Given the description of an element on the screen output the (x, y) to click on. 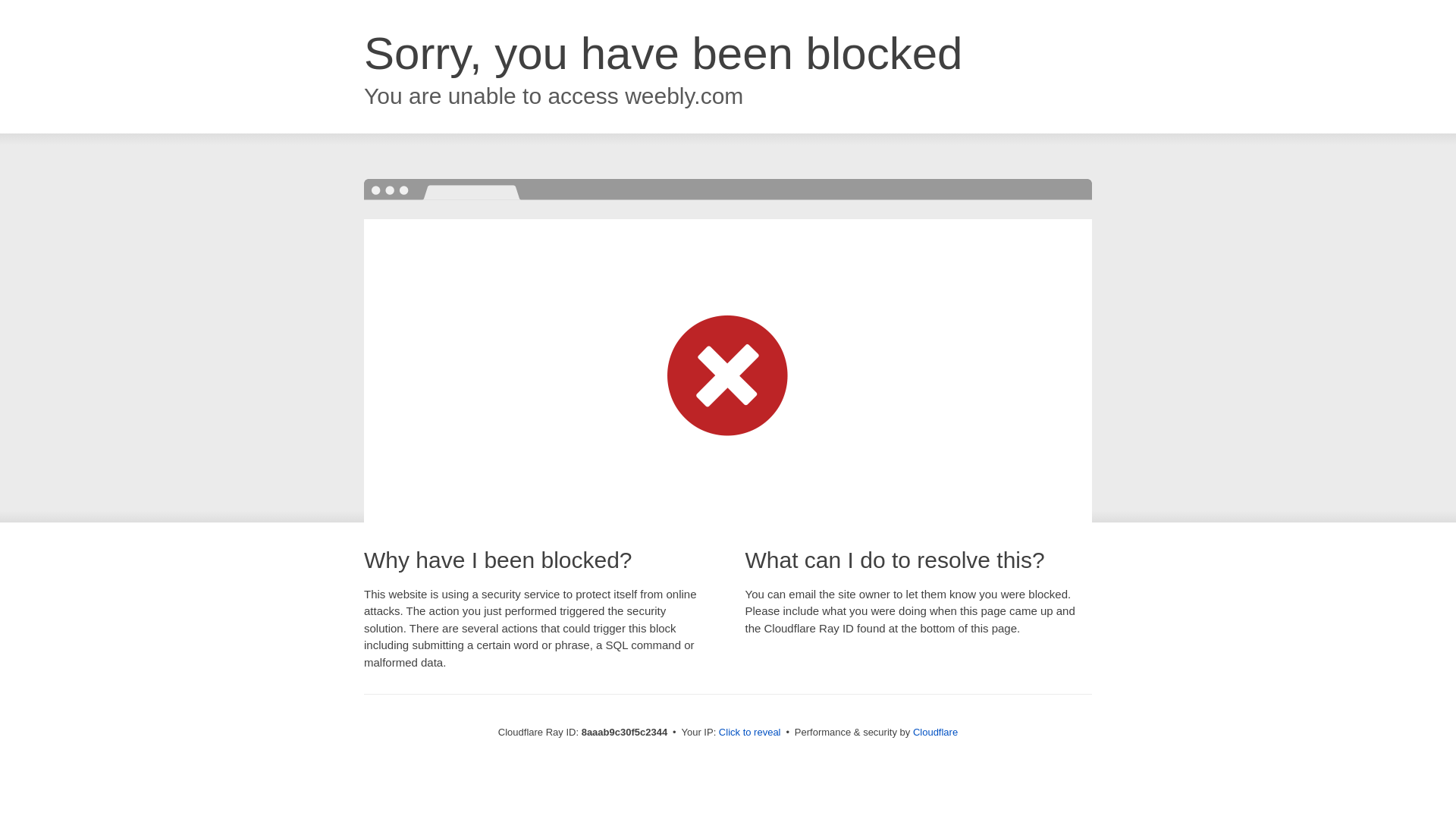
Cloudflare (935, 731)
Click to reveal (749, 732)
